Given the description of an element on the screen output the (x, y) to click on. 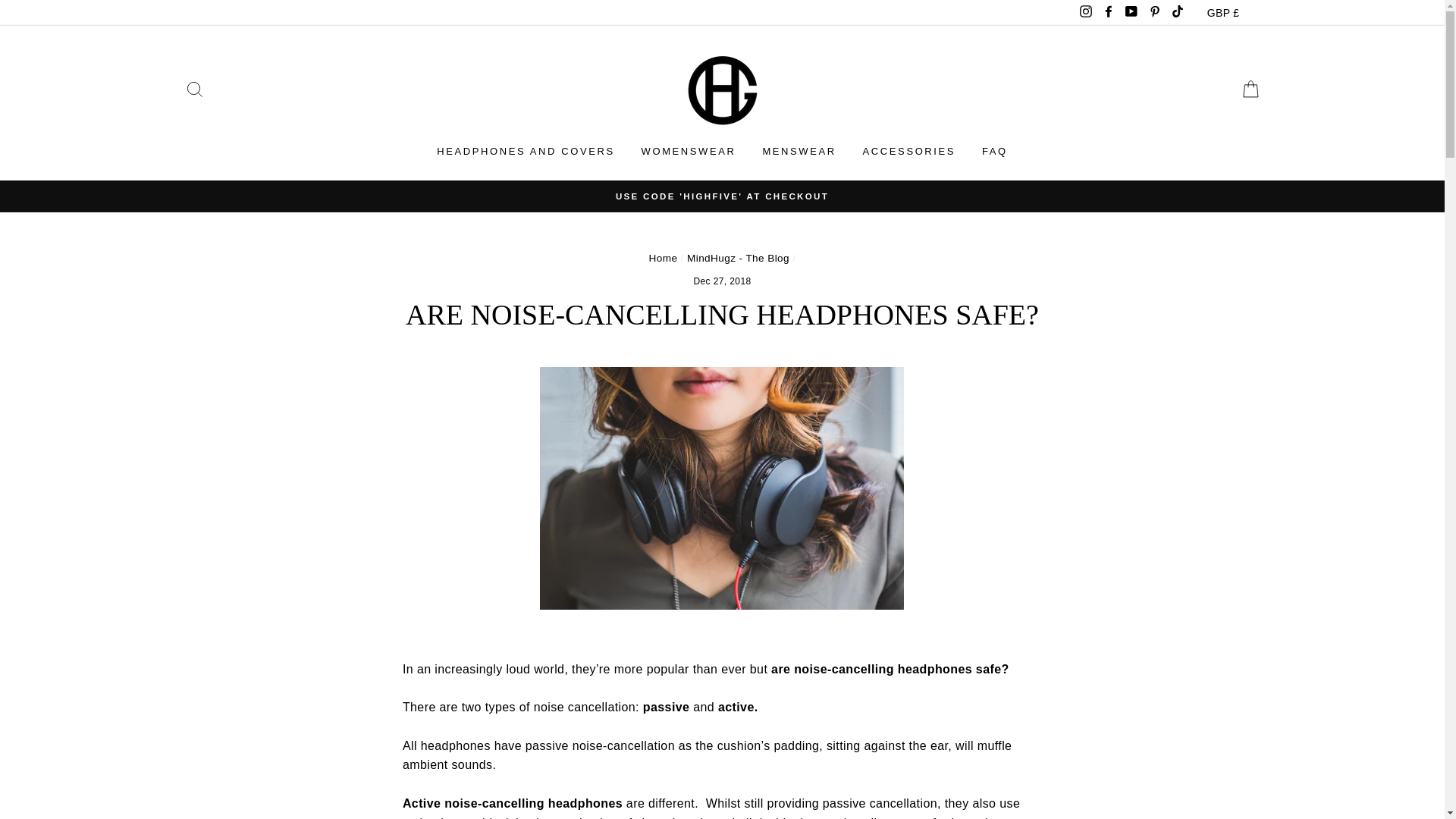
Back to the frontpage (663, 257)
